Given the description of an element on the screen output the (x, y) to click on. 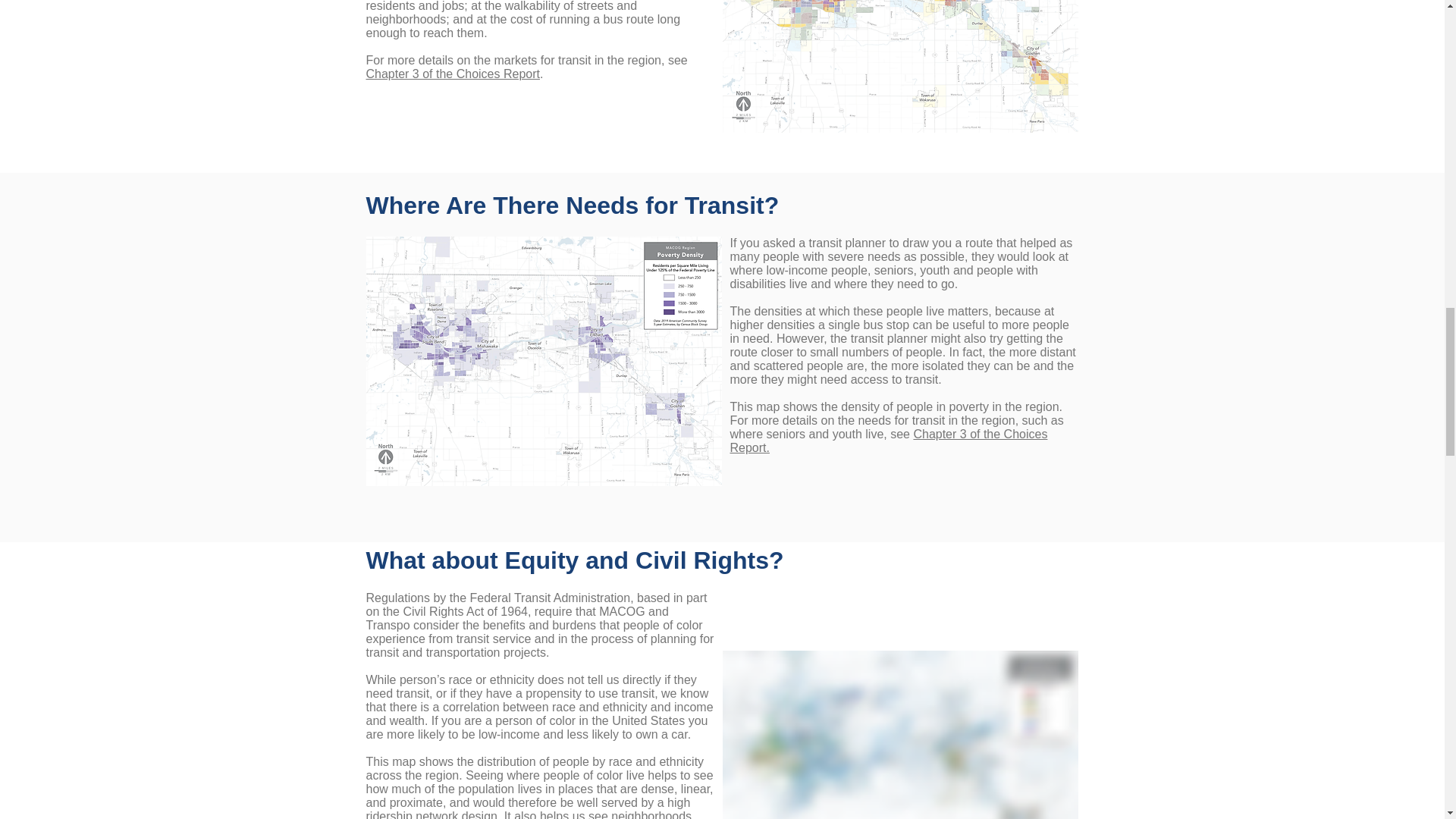
Poverty Density in the MACOG Region (542, 361)
Race and Ethnicity in St. Joseph and Elkhart Counties (899, 734)
Chapter 3 of the Choices Report (451, 73)
Chapter 3 of the Choices Report. (887, 440)
Map of Acitivity Density in St. Joseph and Elkhrt Counties (899, 66)
